Given the description of an element on the screen output the (x, y) to click on. 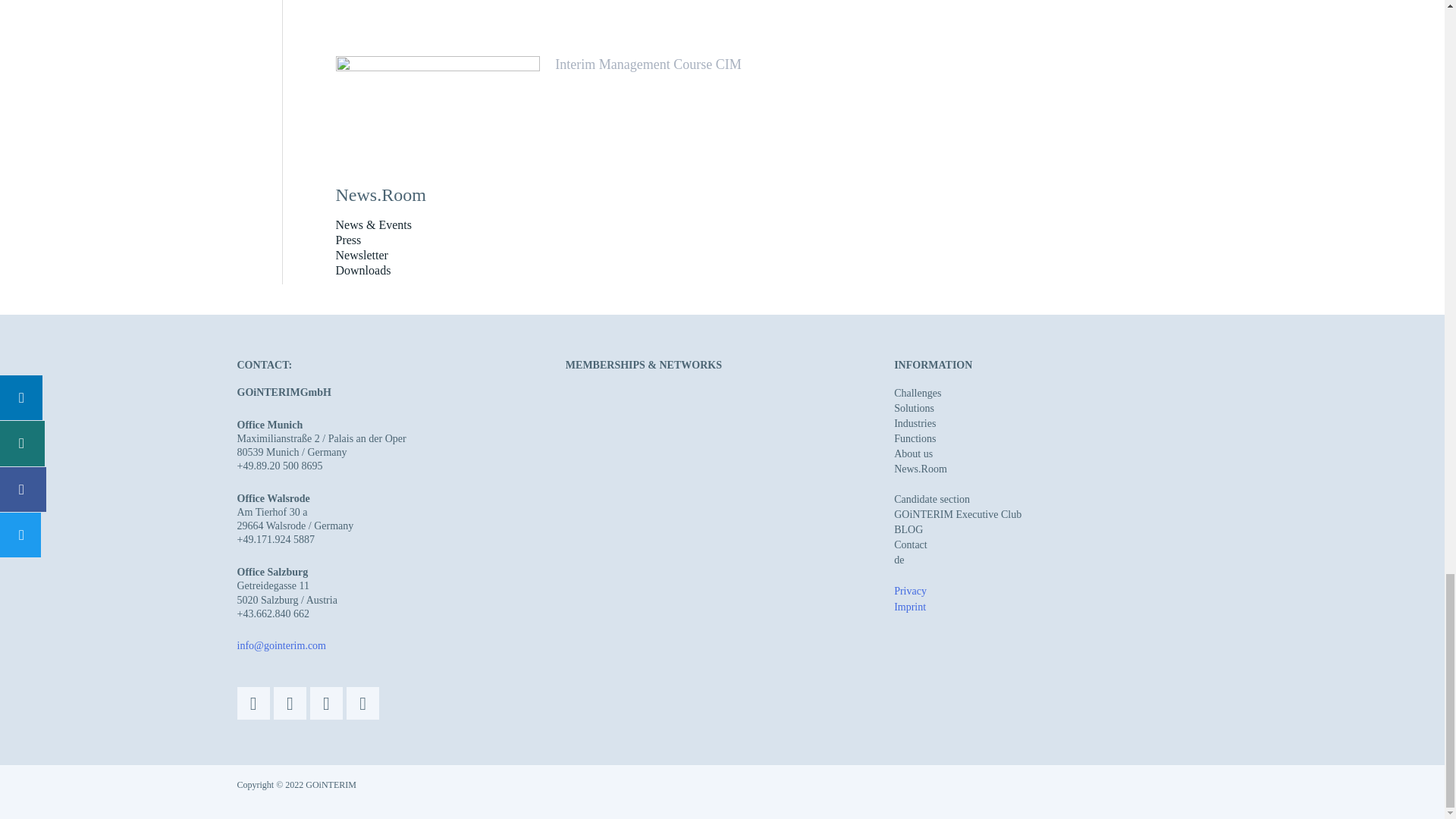
de (1020, 560)
